Given the description of an element on the screen output the (x, y) to click on. 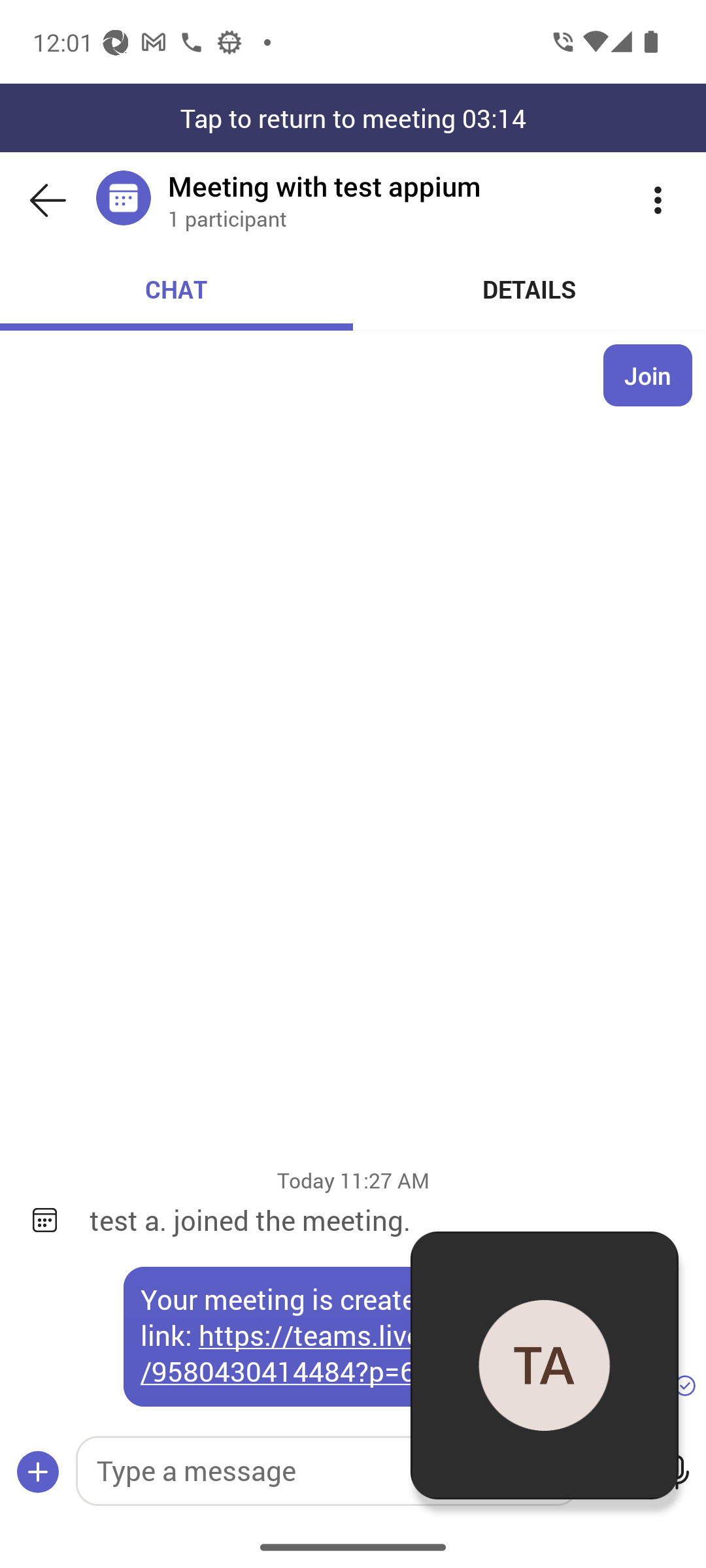
Tap to return to meeting 03:14 (353, 117)
Back (48, 199)
More options (657, 199)
Details DETAILS (529, 288)
Join (647, 375)
test a. joined the meeting. (383, 1219)
Compose options, collapsed (37, 1471)
Type a message (326, 1470)
